Given the description of an element on the screen output the (x, y) to click on. 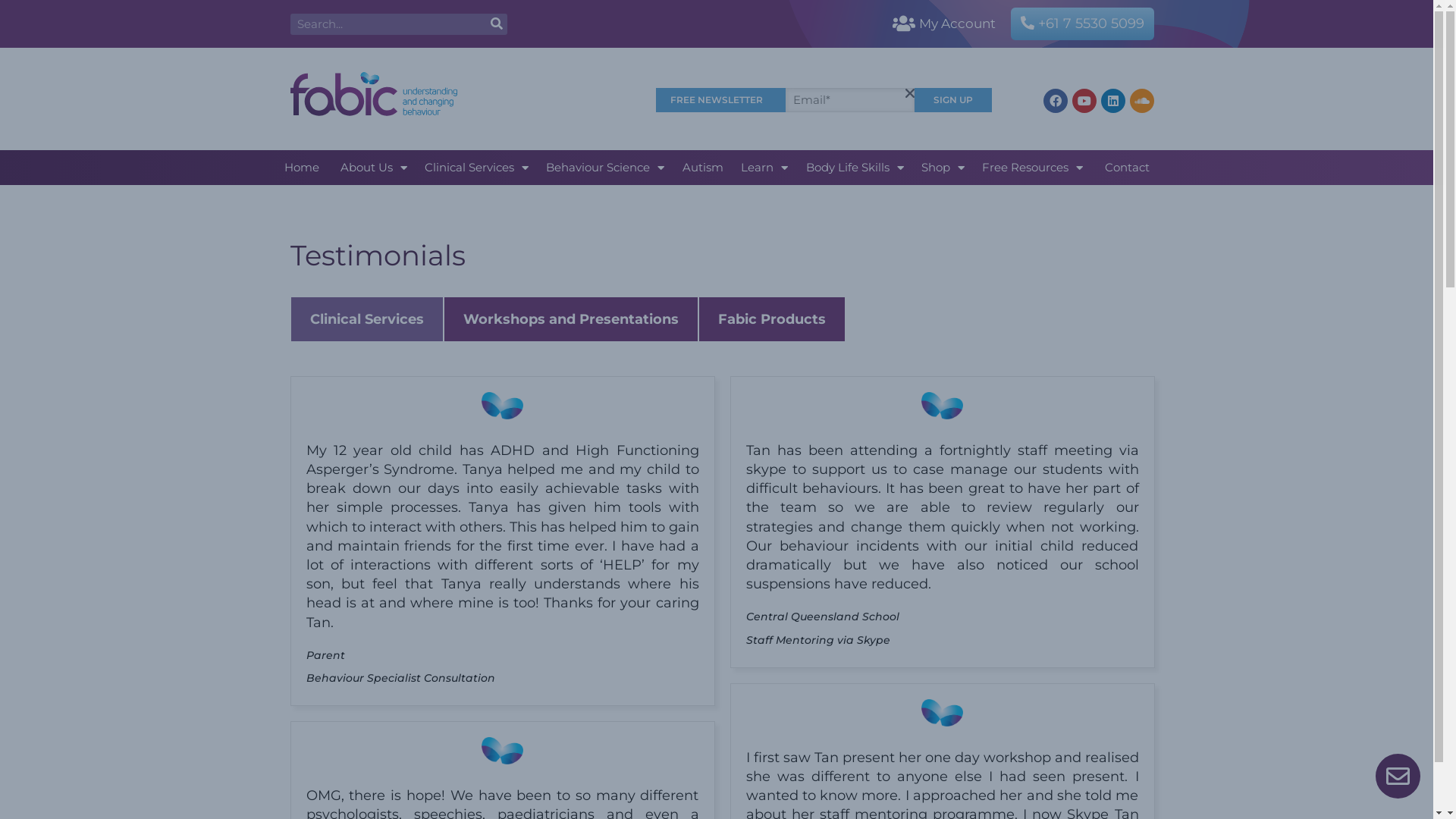
About Us Element type: text (373, 167)
Home Element type: text (305, 167)
Free Resources Element type: text (1032, 167)
Contact Element type: text (1123, 167)
Youtube Element type: text (1084, 100)
My Account Element type: text (957, 23)
SIGN UP Element type: text (952, 99)
SEARCH Element type: text (495, 23)
Behaviour Science Element type: text (605, 167)
+61 7 5530 5099 Element type: text (1082, 23)
Clinical Services Element type: text (475, 167)
Linkedin Element type: text (1113, 100)
Facebook Element type: text (1055, 100)
Autism Element type: text (702, 167)
Shop Element type: text (942, 167)
Body Life Skills Element type: text (854, 167)
Learn Element type: text (764, 167)
Soundcloud Element type: text (1141, 100)
